Given the description of an element on the screen output the (x, y) to click on. 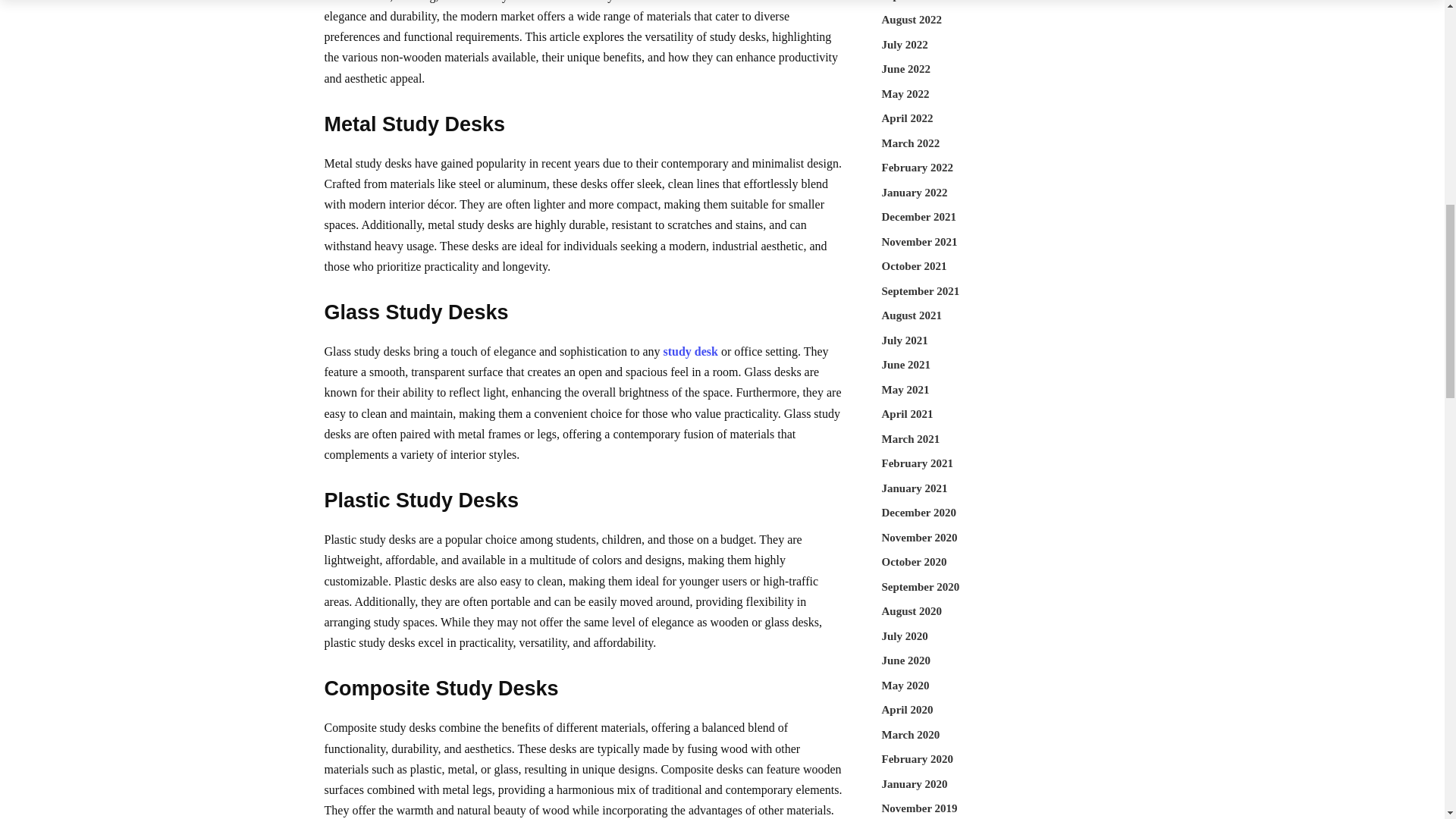
study desk (690, 350)
